Given the description of an element on the screen output the (x, y) to click on. 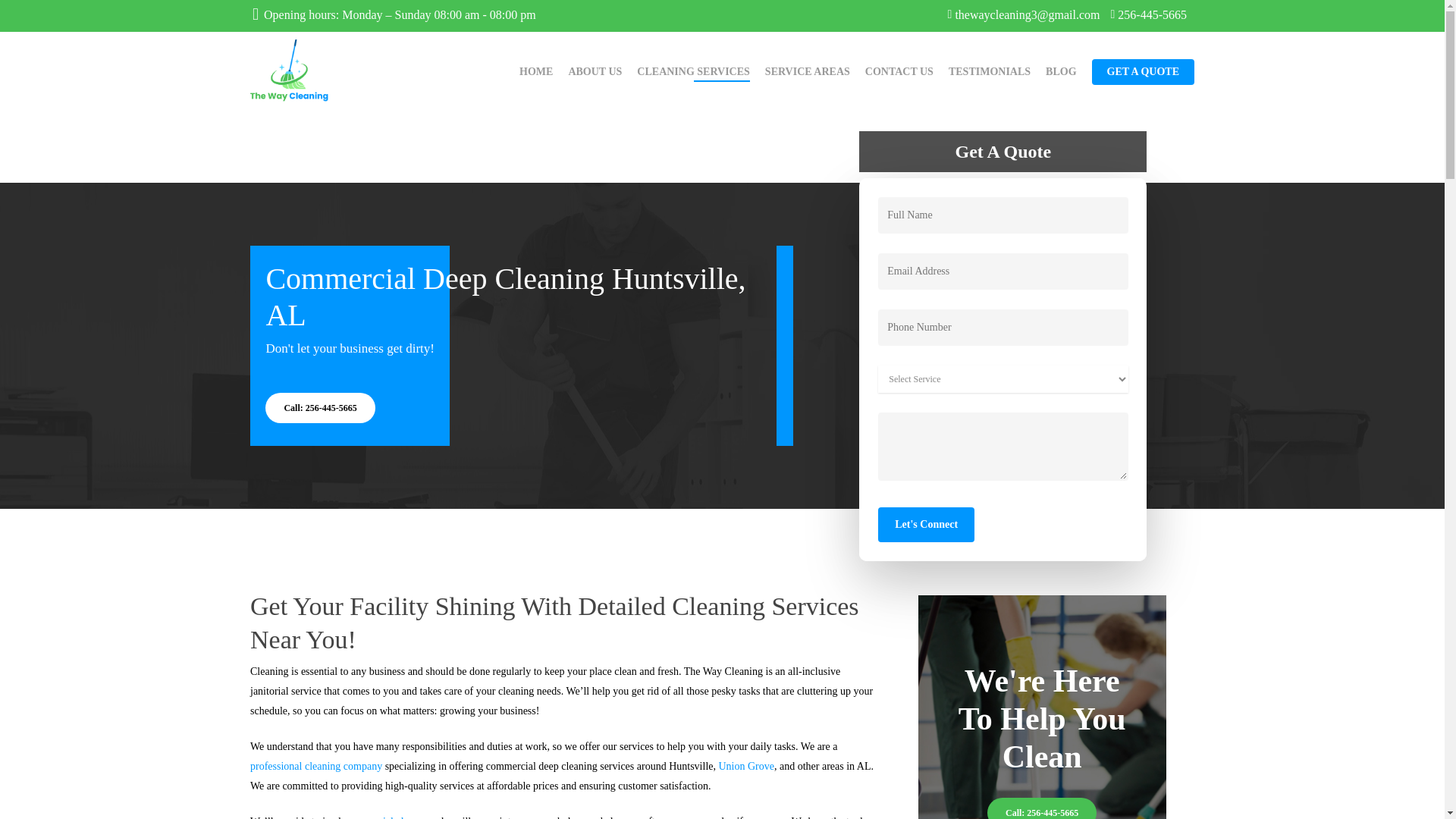
256-445-5665 (1147, 14)
Let's Connect (925, 524)
CLEANING SERVICES (693, 70)
HOME (536, 70)
GET A QUOTE (1142, 70)
SERVICE AREAS (807, 70)
TESTIMONIALS (989, 70)
BLOG (1060, 70)
CONTACT US (898, 70)
ABOUT US (594, 70)
